Given the description of an element on the screen output the (x, y) to click on. 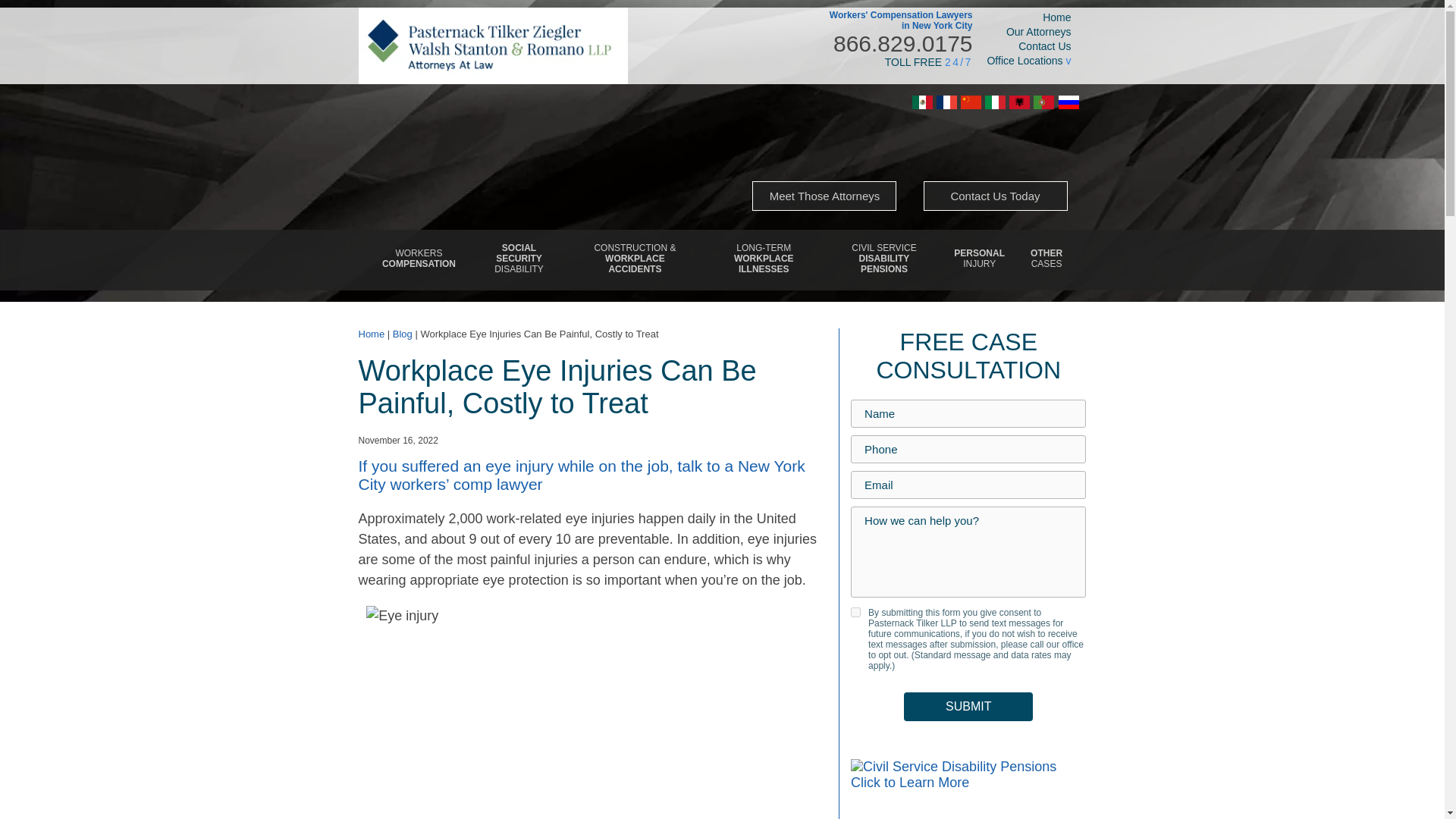
Home (1021, 17)
Our Attorneys (1021, 31)
Contact Us (1021, 46)
Contact Us Today (995, 195)
Meet Those Attorneys (978, 260)
Italiano (824, 195)
Shqiptar (763, 260)
1 (995, 101)
Office Locations v (1019, 101)
Submit (418, 260)
